Given the description of an element on the screen output the (x, y) to click on. 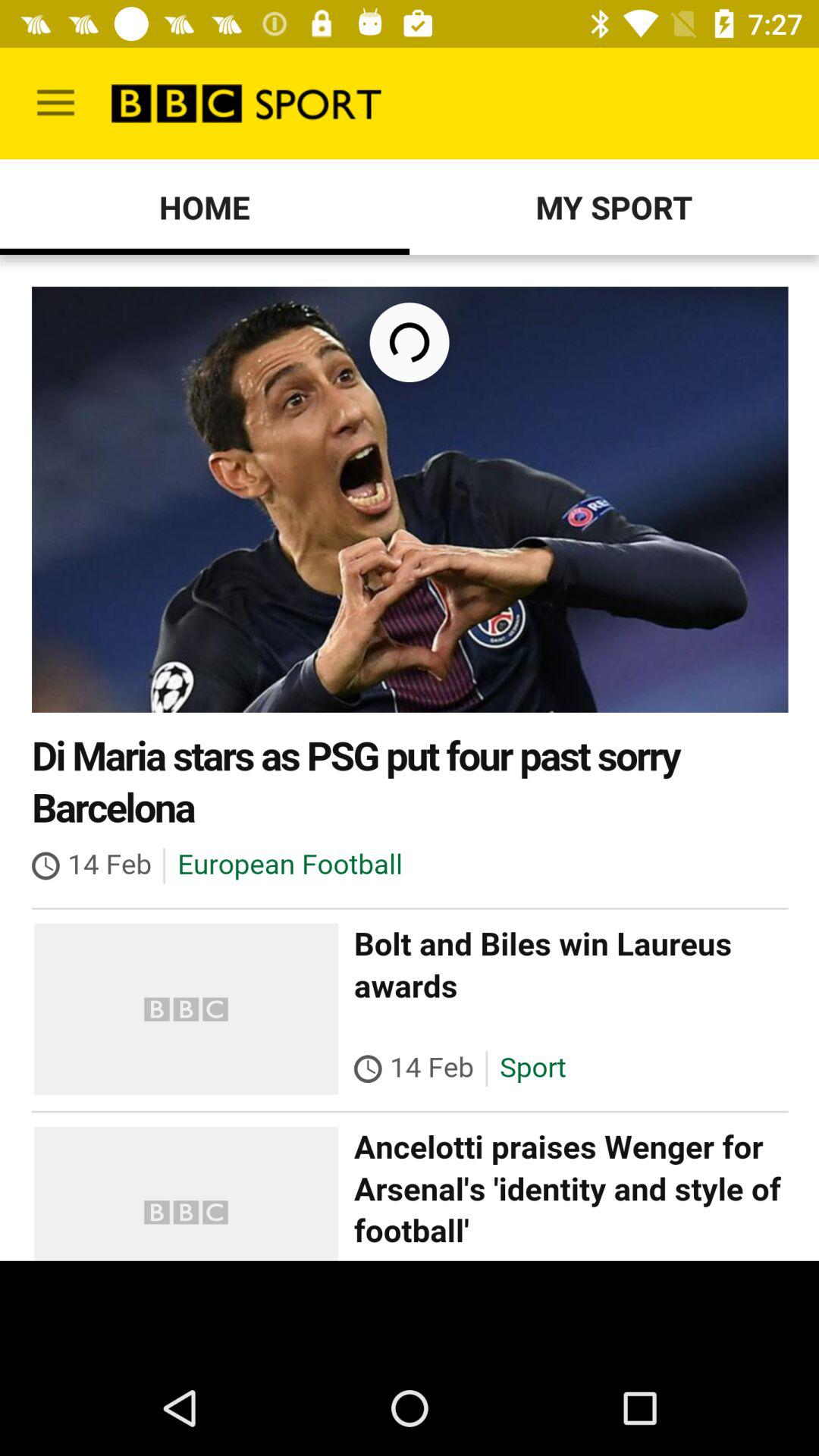
bbc sport (409, 757)
